Given the description of an element on the screen output the (x, y) to click on. 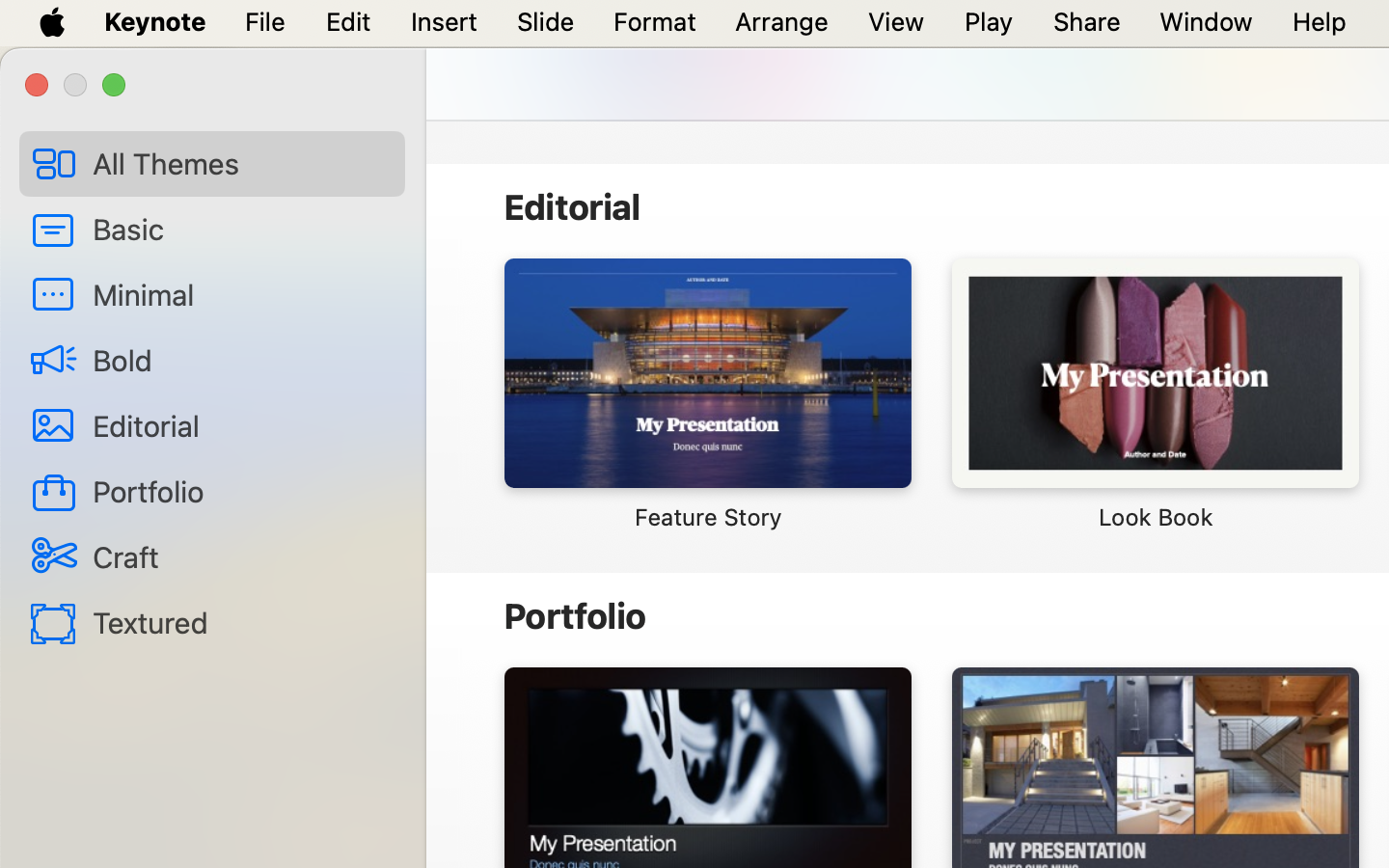
Textured Element type: AXStaticText (240, 621)
Minimal Element type: AXStaticText (240, 293)
Portfolio Element type: AXStaticText (240, 490)
